Given the description of an element on the screen output the (x, y) to click on. 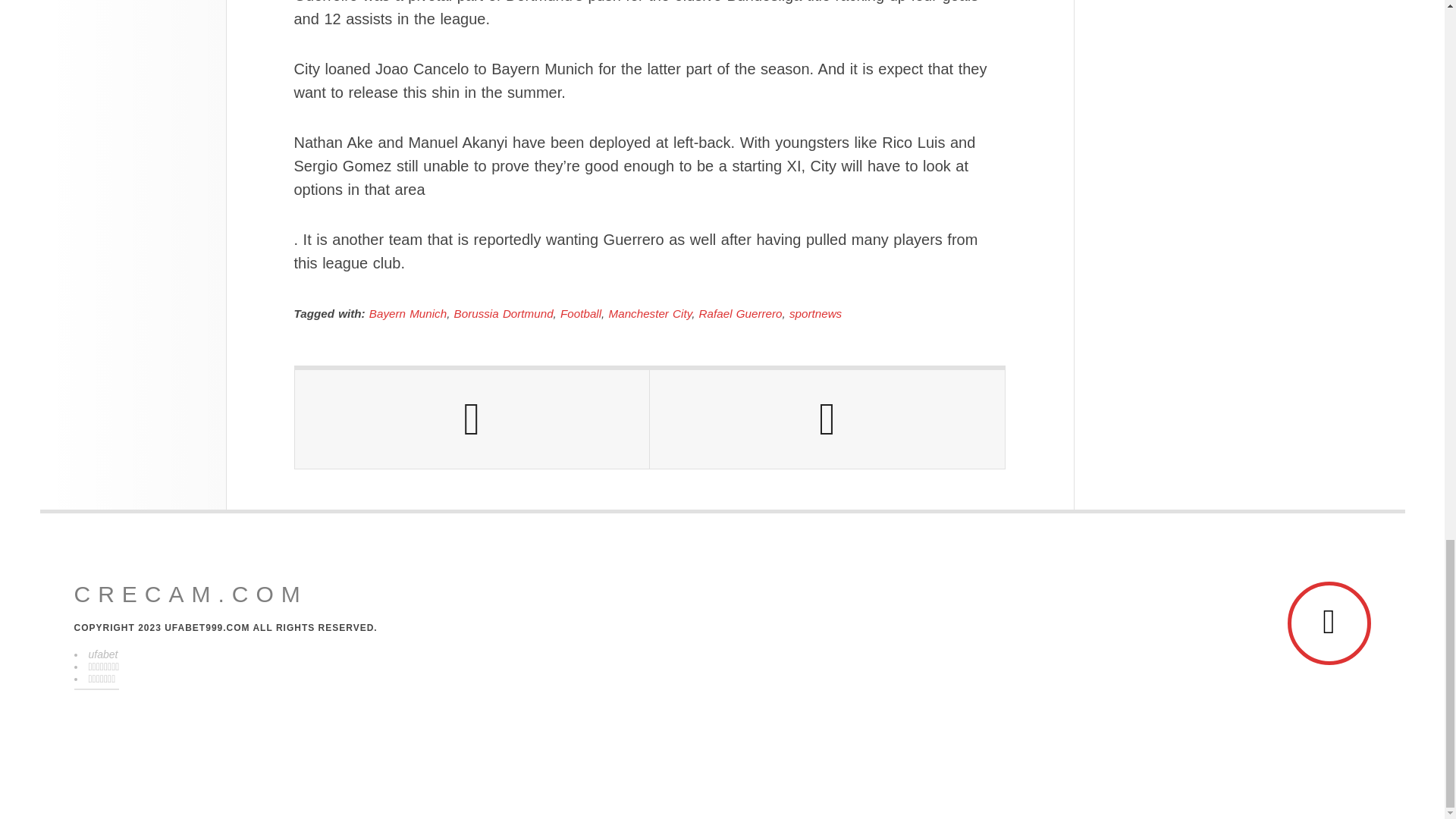
ufabet (102, 654)
crecam.com (190, 594)
Next Post (826, 419)
Rafael Guerrero (740, 313)
CRECAM.COM (190, 594)
Football (580, 313)
Bayern Munich (407, 313)
sportnews (815, 313)
Borussia Dortmund (503, 313)
Previous Post (471, 419)
